Given the description of an element on the screen output the (x, y) to click on. 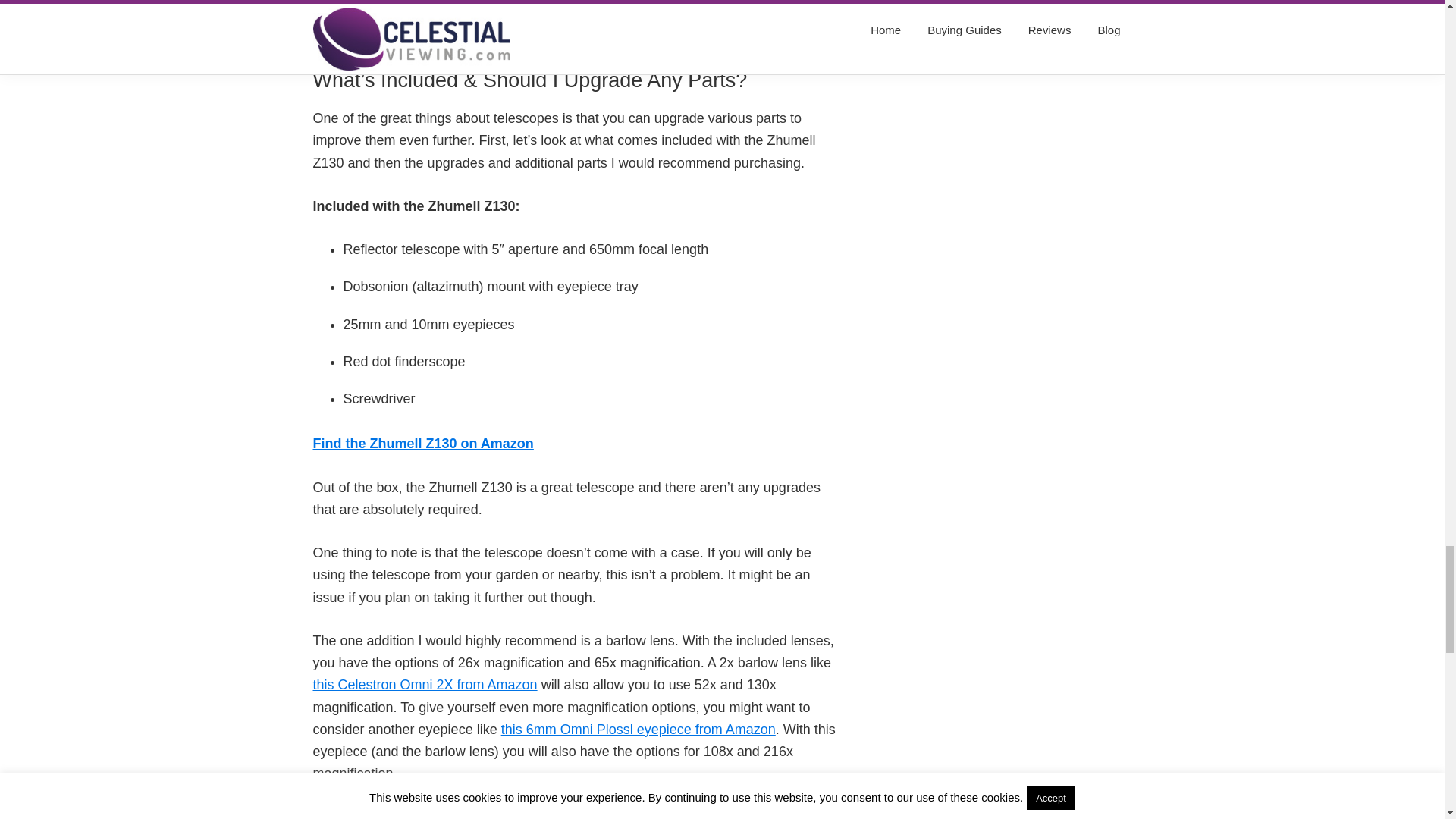
this 6mm Omni Plossl eyepiece from Amazon (638, 729)
Find the Zhumell Z130 on Amazon (422, 443)
this Celestron Omni 2X from Amazon (425, 684)
